Given the description of an element on the screen output the (x, y) to click on. 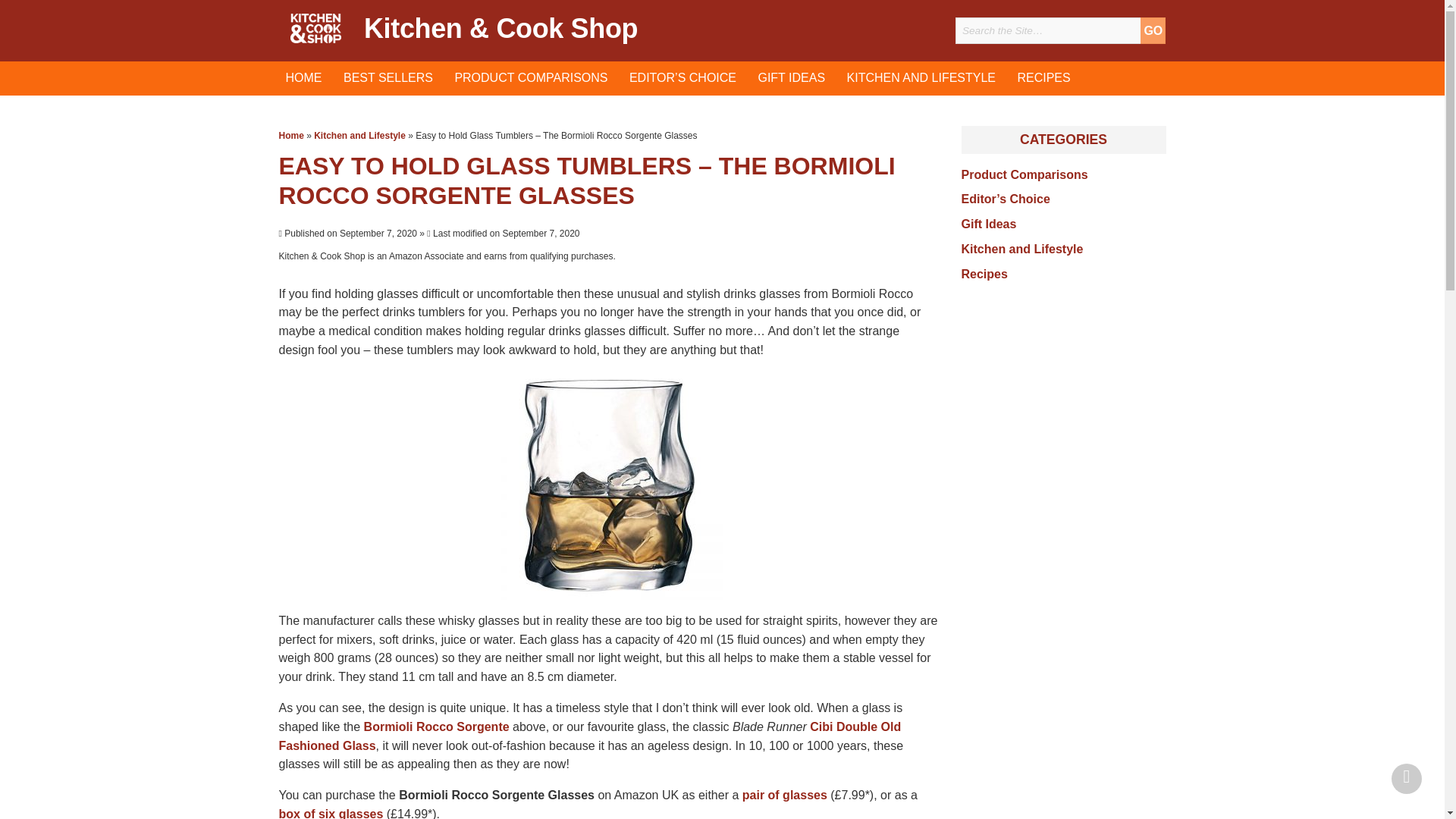
HOME (304, 78)
Go (1153, 30)
GIFT IDEAS (790, 78)
PRODUCT COMPARISONS (530, 78)
KITCHEN AND LIFESTYLE (921, 78)
Recipes (1043, 78)
box of six glasses (331, 813)
Gift Ideas (790, 78)
Best Sellers (387, 78)
Home (304, 78)
